Given the description of an element on the screen output the (x, y) to click on. 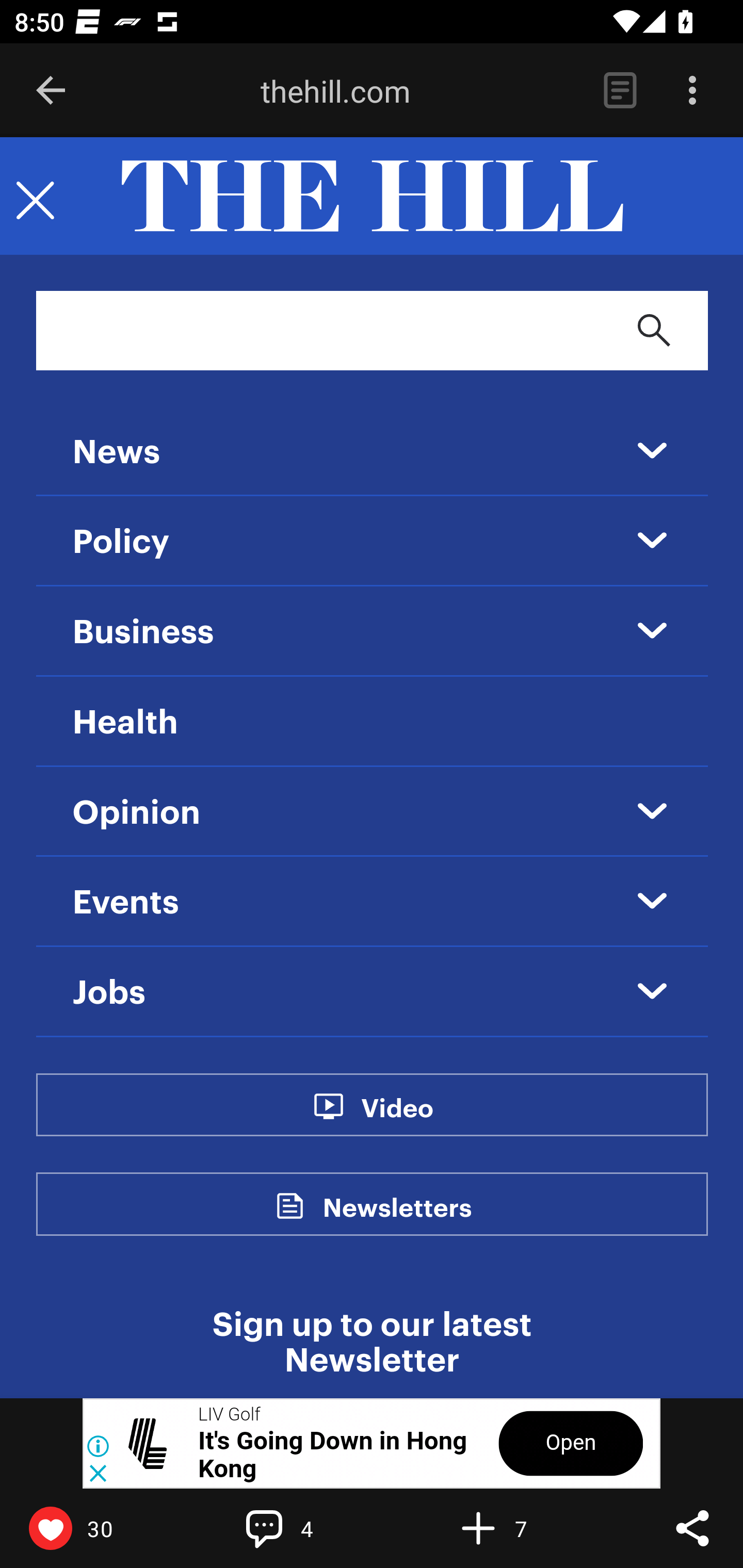
Back (50, 90)
Reader View (619, 90)
Options (692, 90)
Toggle Menu (34, 196)
TheHill.com (371, 196)
Search (654, 329)
News (116, 453)
Policy (121, 543)
Business (143, 632)
Health (125, 722)
Opinion (137, 812)
Events (126, 902)
Jobs (109, 993)
Video (396, 1118)
Newsletters (397, 1218)
Like 30 (93, 1528)
Write a comment… 4 (307, 1528)
Flip into Magazine 7 (521, 1528)
Share (692, 1528)
